Given the description of an element on the screen output the (x, y) to click on. 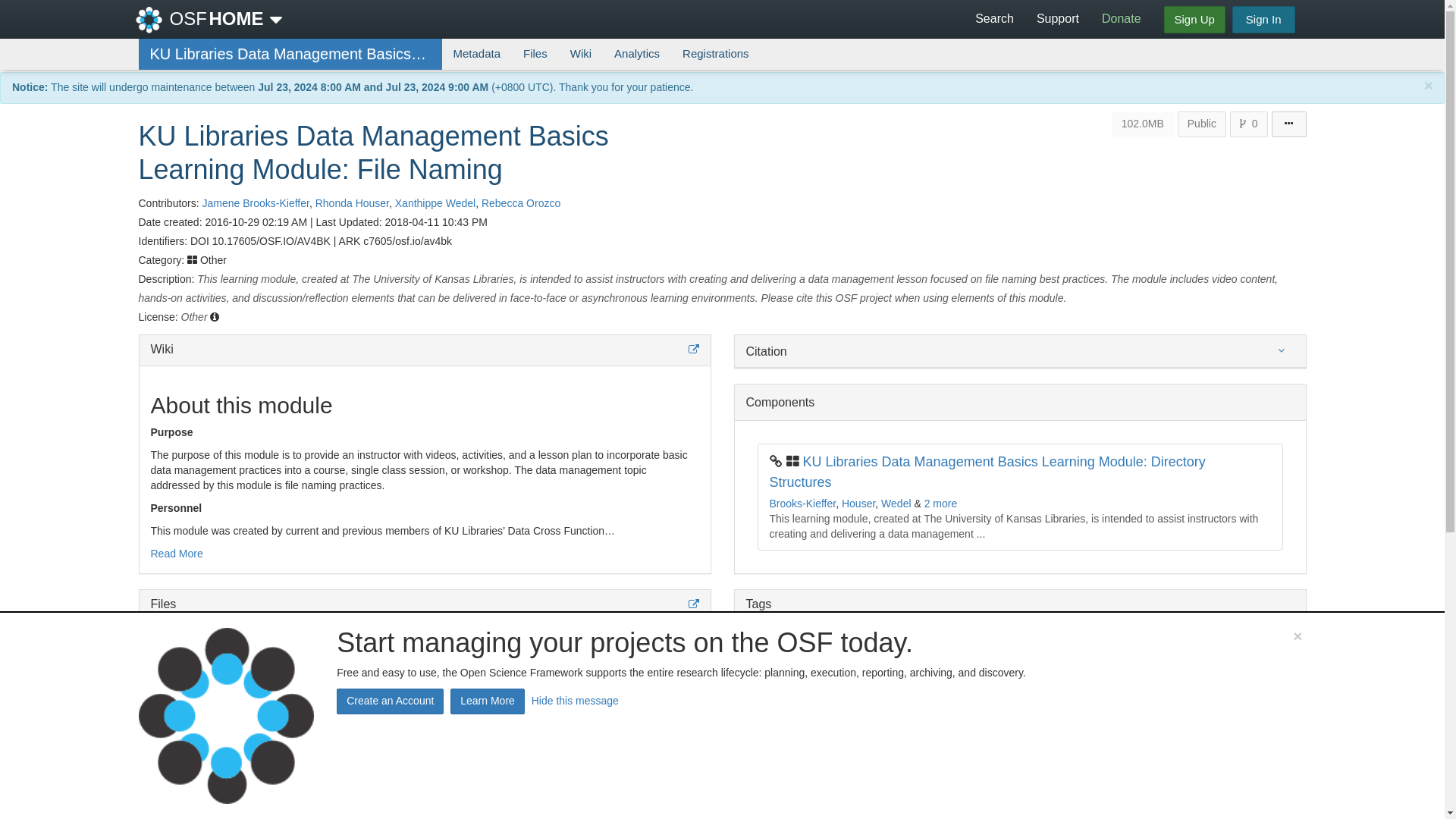
Jamene Brooks-Kieffer (255, 203)
Sign In (1263, 19)
Support (1057, 18)
Rebecca Orozco (520, 203)
  0 (1249, 124)
Sign Up (1194, 19)
Metadata (476, 53)
Files (535, 53)
Xanthippe Wedel (435, 203)
Analytics (636, 53)
Donate (1121, 18)
Rhonda Houser (351, 203)
Search (994, 18)
Wiki (580, 53)
